Given the description of an element on the screen output the (x, y) to click on. 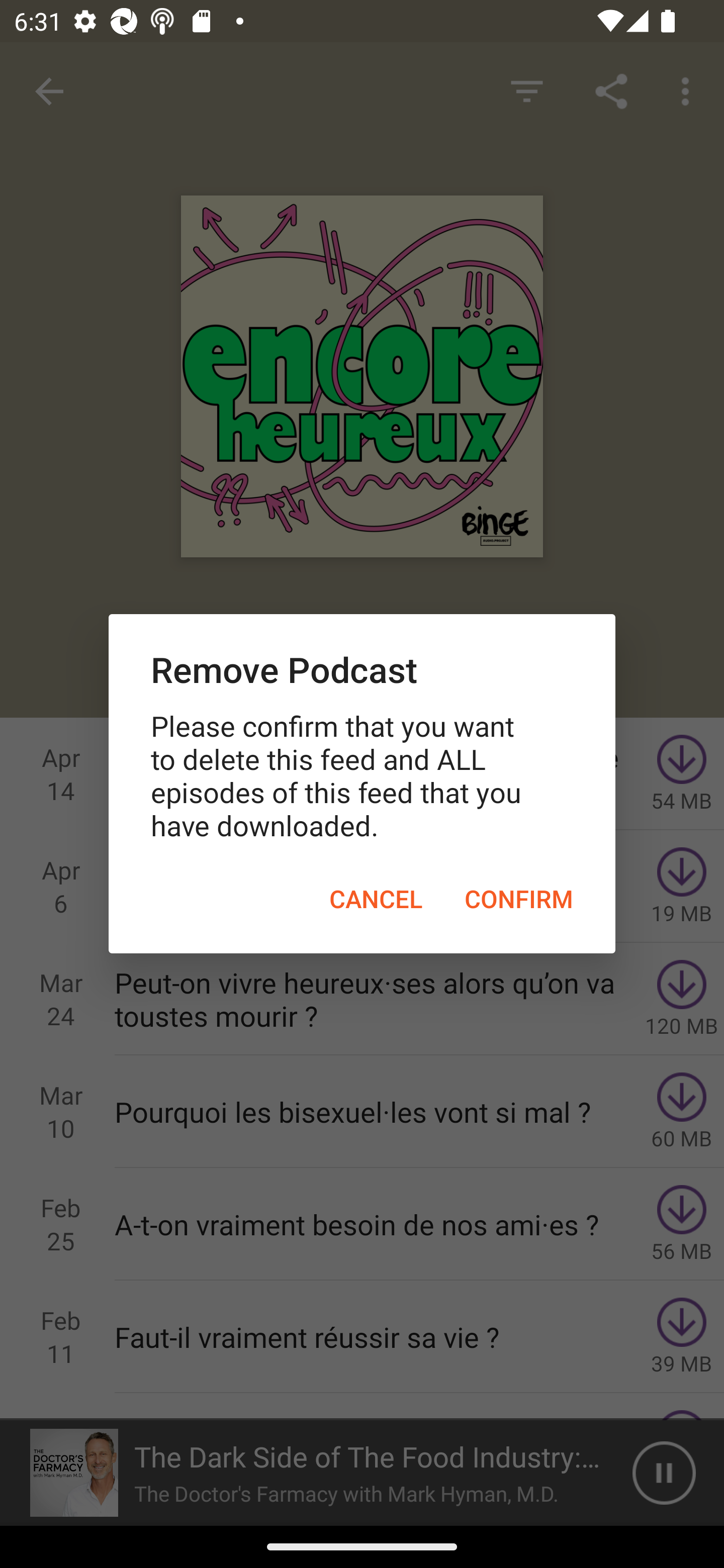
CANCEL (375, 899)
CONFIRM (518, 899)
